Given the description of an element on the screen output the (x, y) to click on. 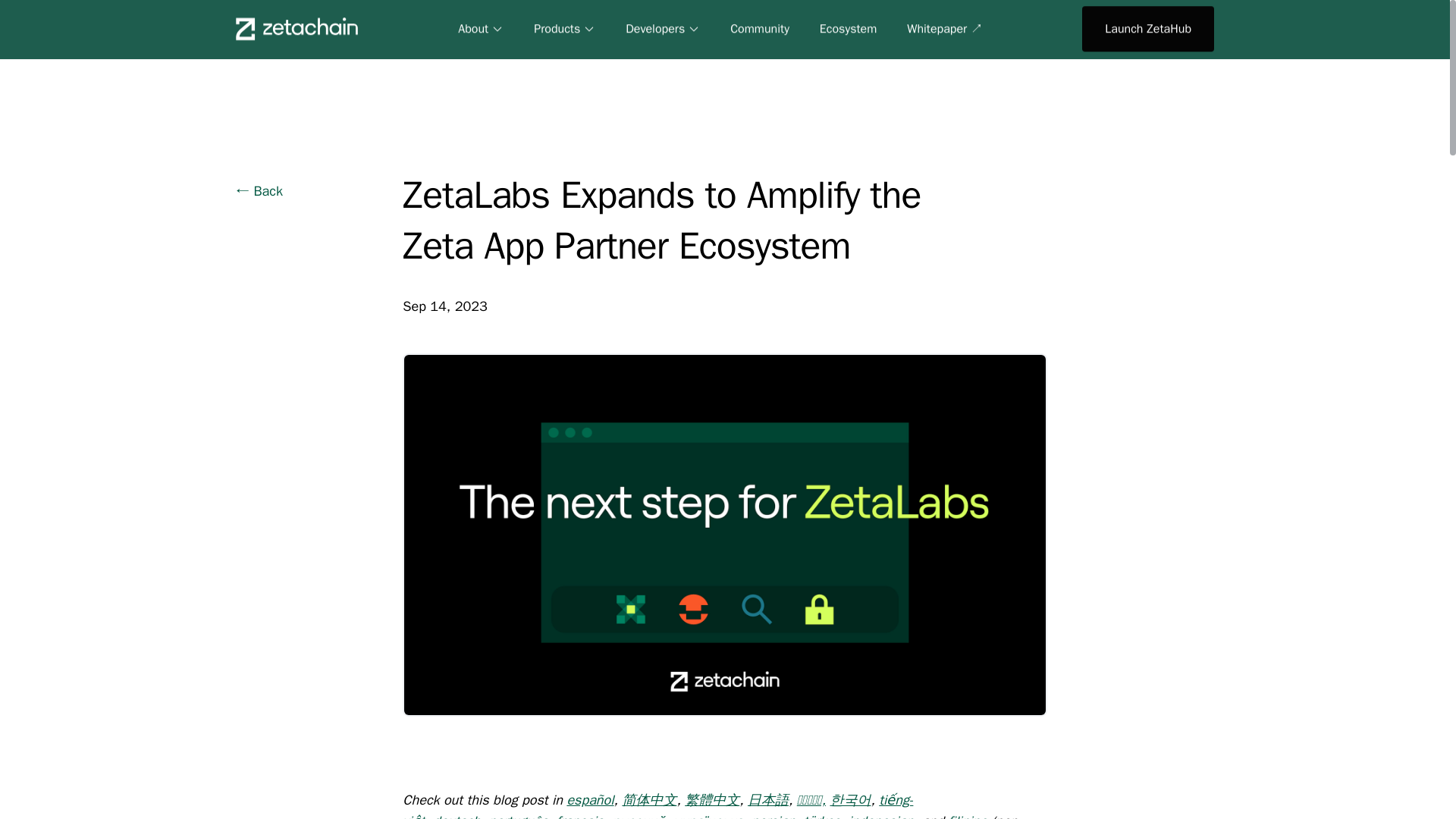
persian (772, 816)
deutsch (456, 816)
Developers (663, 28)
indonesian (881, 816)
Launch ZetaHub (1147, 28)
Ecosystem (847, 28)
About (480, 28)
Products (564, 28)
filipino (967, 816)
Community (759, 28)
